Given the description of an element on the screen output the (x, y) to click on. 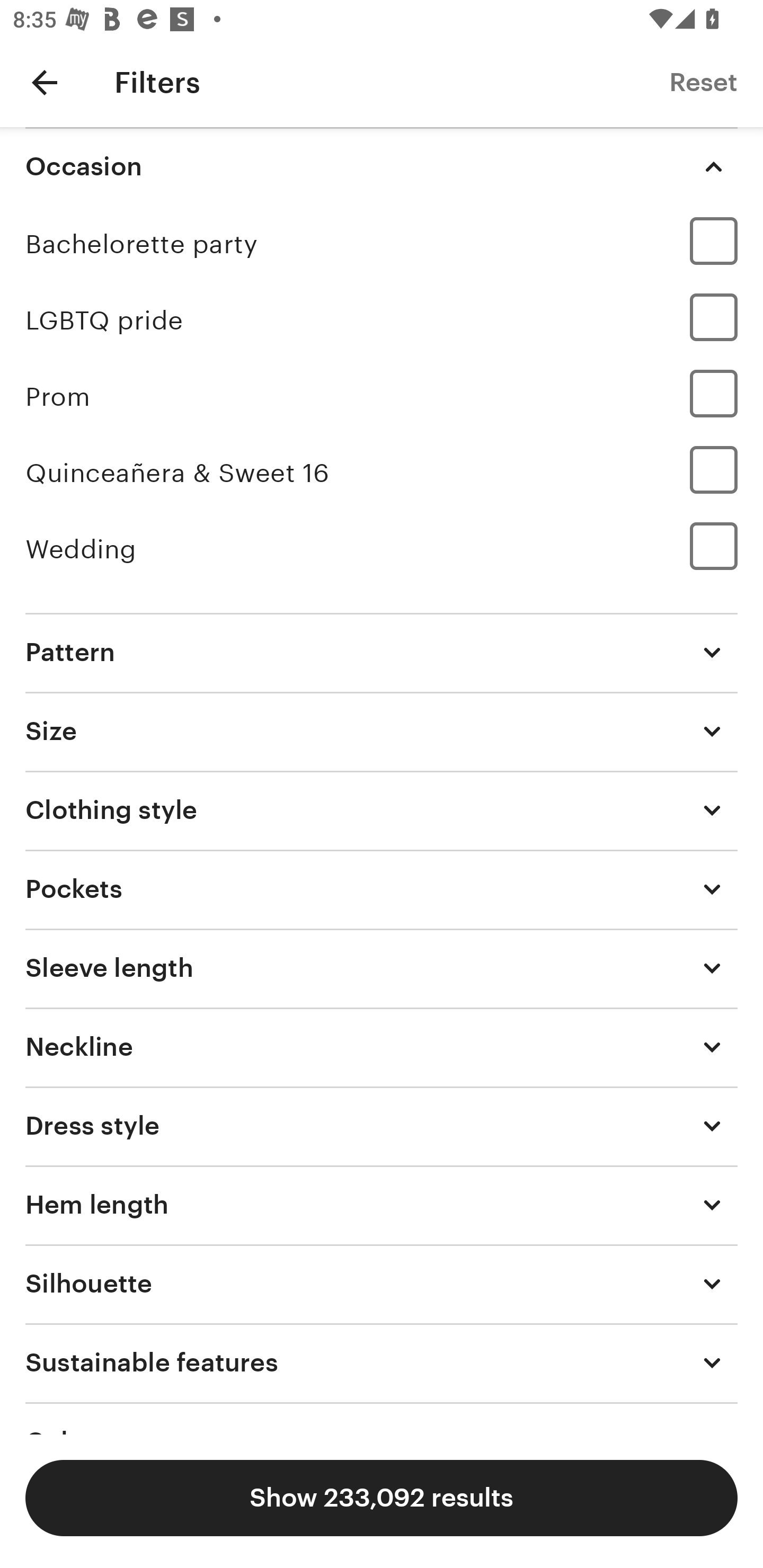
Navigate up (44, 82)
Reset (703, 81)
Occasion (381, 166)
Bachelorette party (381, 243)
LGBTQ pride (381, 320)
Prom (381, 396)
Quinceañera & Sweet 16 (381, 472)
Wedding (381, 549)
Pattern (381, 652)
Size (381, 731)
Clothing style (381, 810)
Pockets (381, 888)
Sleeve length (381, 968)
Neckline (381, 1047)
Dress style (381, 1125)
Hem length (381, 1204)
Silhouette (381, 1283)
Sustainable features (381, 1362)
Show 233,092 results (381, 1497)
